Given the description of an element on the screen output the (x, y) to click on. 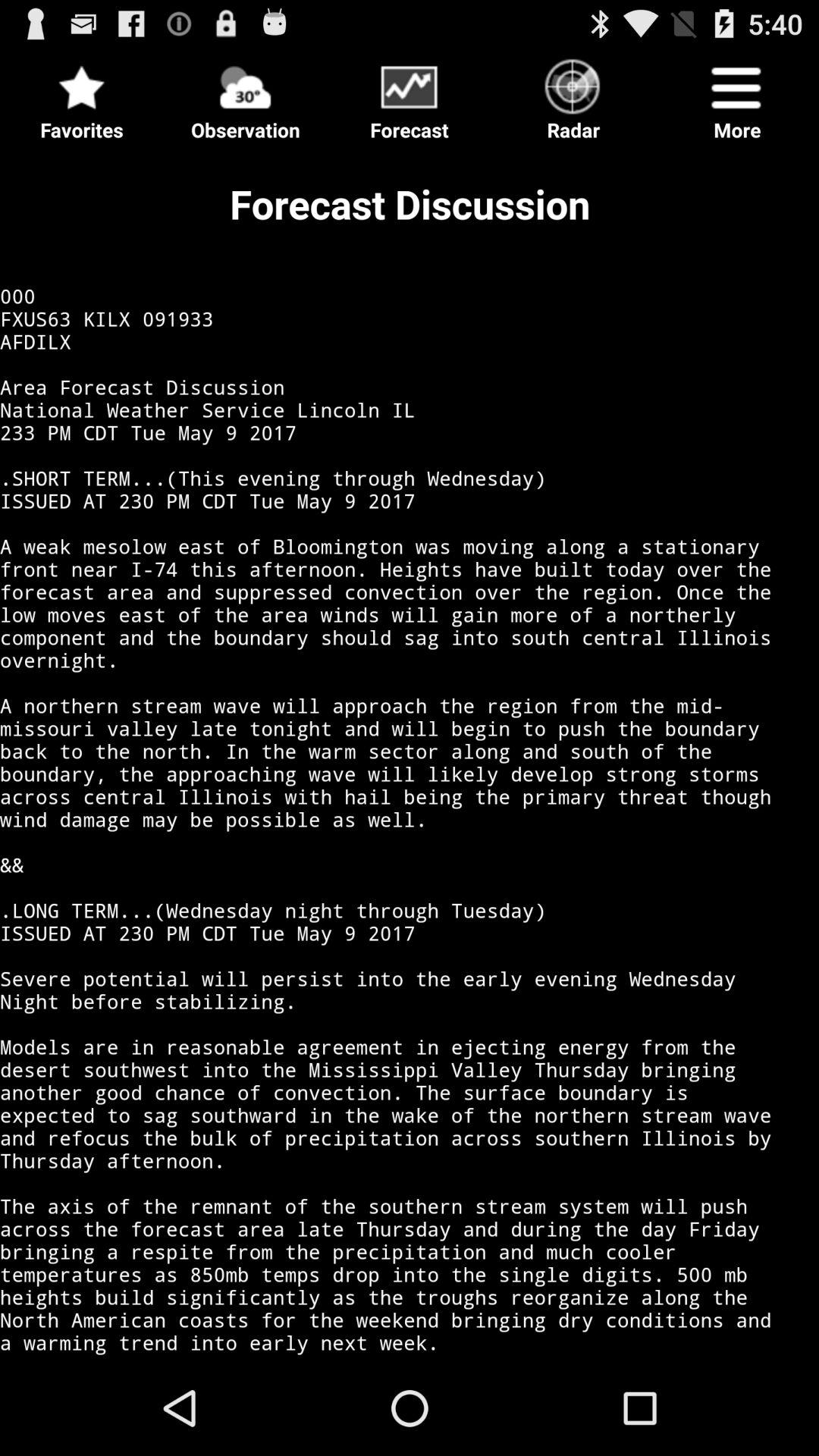
choose the icon to the right of the observation (409, 95)
